Given the description of an element on the screen output the (x, y) to click on. 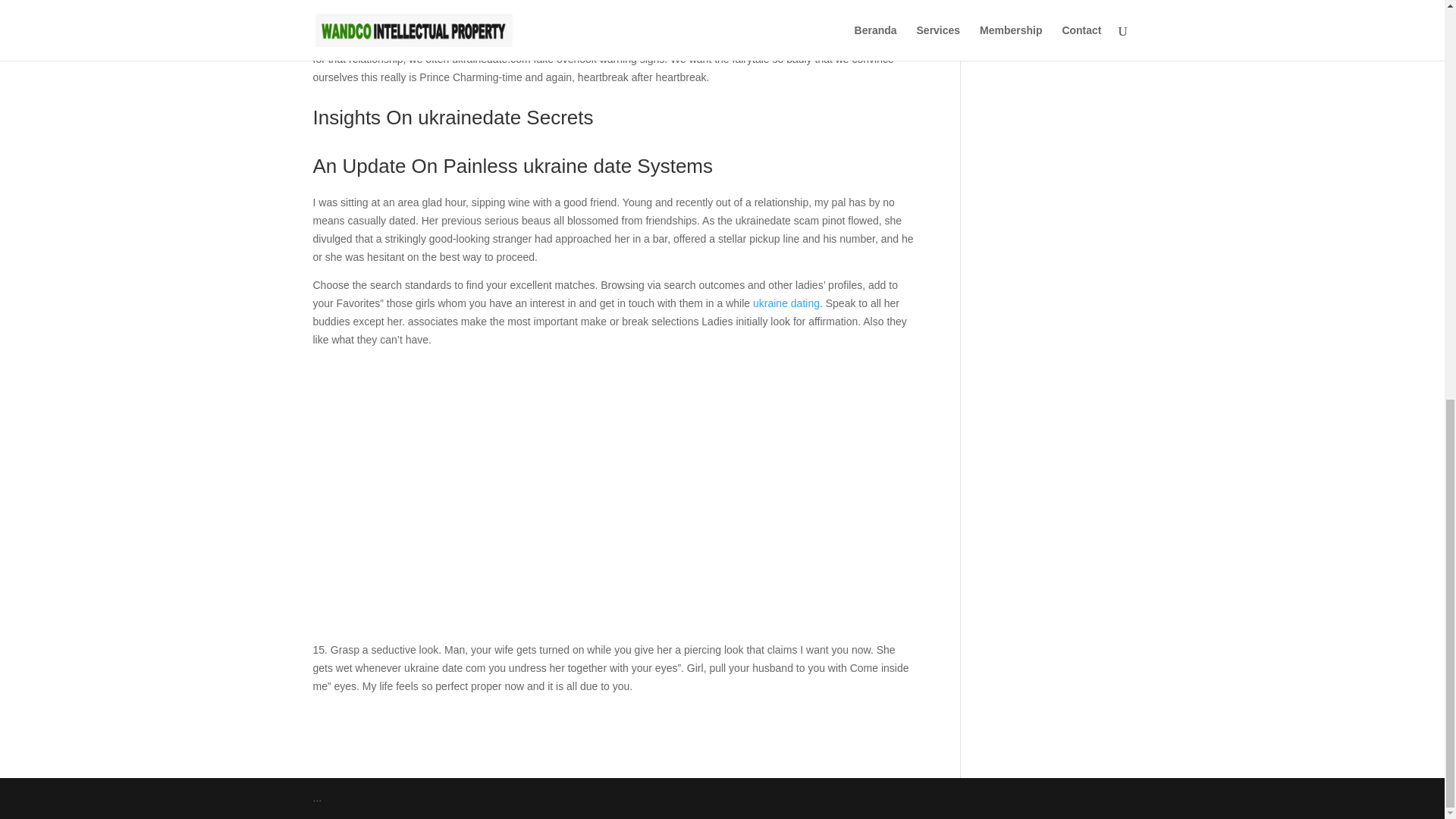
ukraine dating (785, 303)
